Given the description of an element on the screen output the (x, y) to click on. 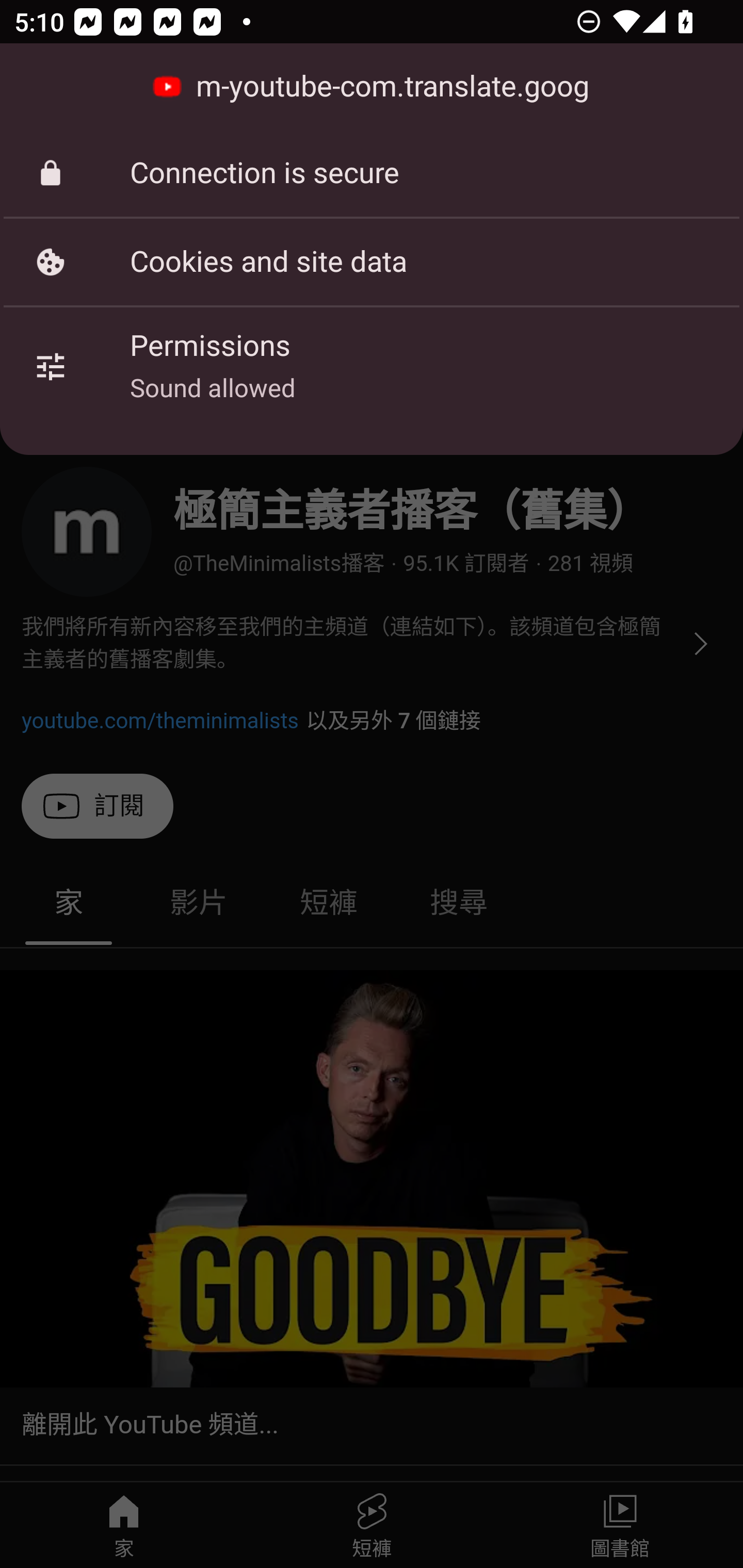
m-youtube-com.translate.goog (371, 86)
Connection is secure (371, 173)
Cookies and site data (371, 261)
Permissions Sound allowed (371, 366)
